Given the description of an element on the screen output the (x, y) to click on. 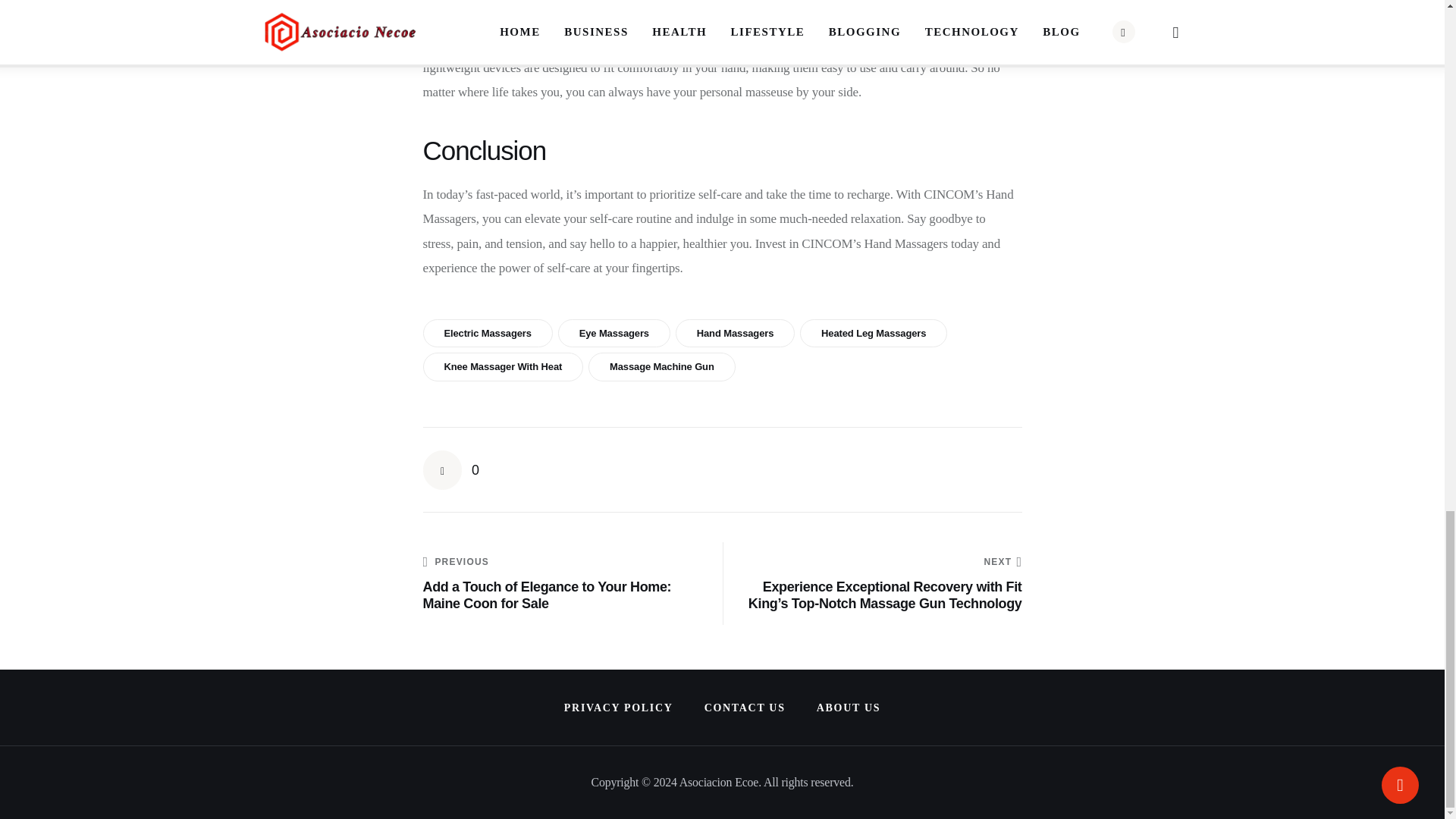
Electric Massagers (488, 333)
Massage Machine Gun (661, 366)
Heated Leg Massagers (873, 333)
Knee Massager With Heat (503, 366)
Eye Massagers (613, 333)
Hand Massagers (734, 333)
Like (451, 469)
